Given the description of an element on the screen output the (x, y) to click on. 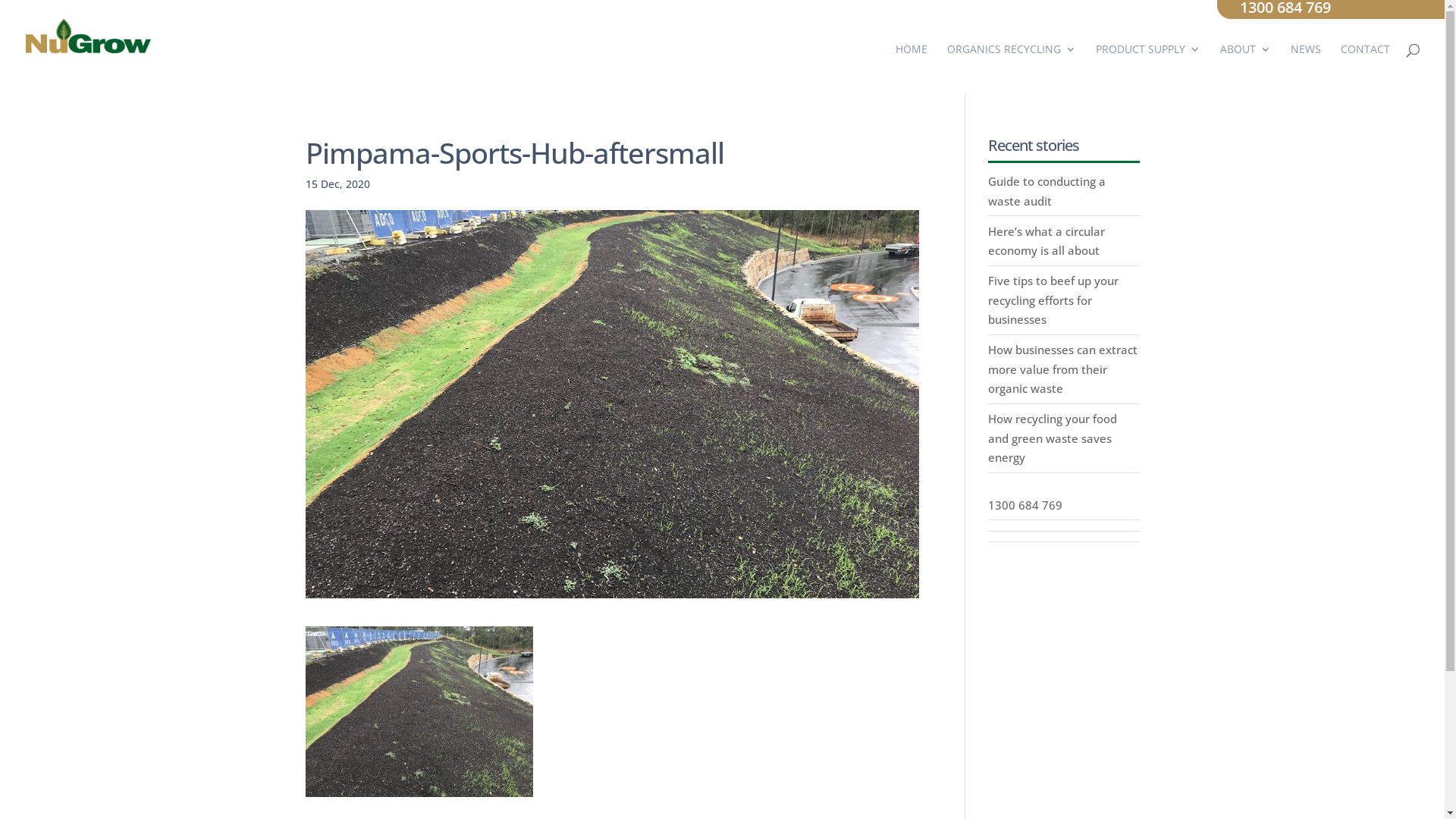
CONTACT Element type: text (1365, 57)
NEWS Element type: text (1305, 57)
HOME Element type: text (911, 57)
Guide to conducting a waste audit Element type: text (1046, 190)
Five tips to beef up your recycling efforts for businesses Element type: text (1053, 299)
1300 684 769 Element type: text (1284, 9)
1300 684 769 Element type: text (1025, 504)
PRODUCT SUPPLY Element type: text (1147, 57)
ABOUT Element type: text (1245, 57)
How recycling your food and green waste saves energy Element type: text (1052, 437)
ORGANICS RECYCLING Element type: text (1011, 57)
